Given the description of an element on the screen output the (x, y) to click on. 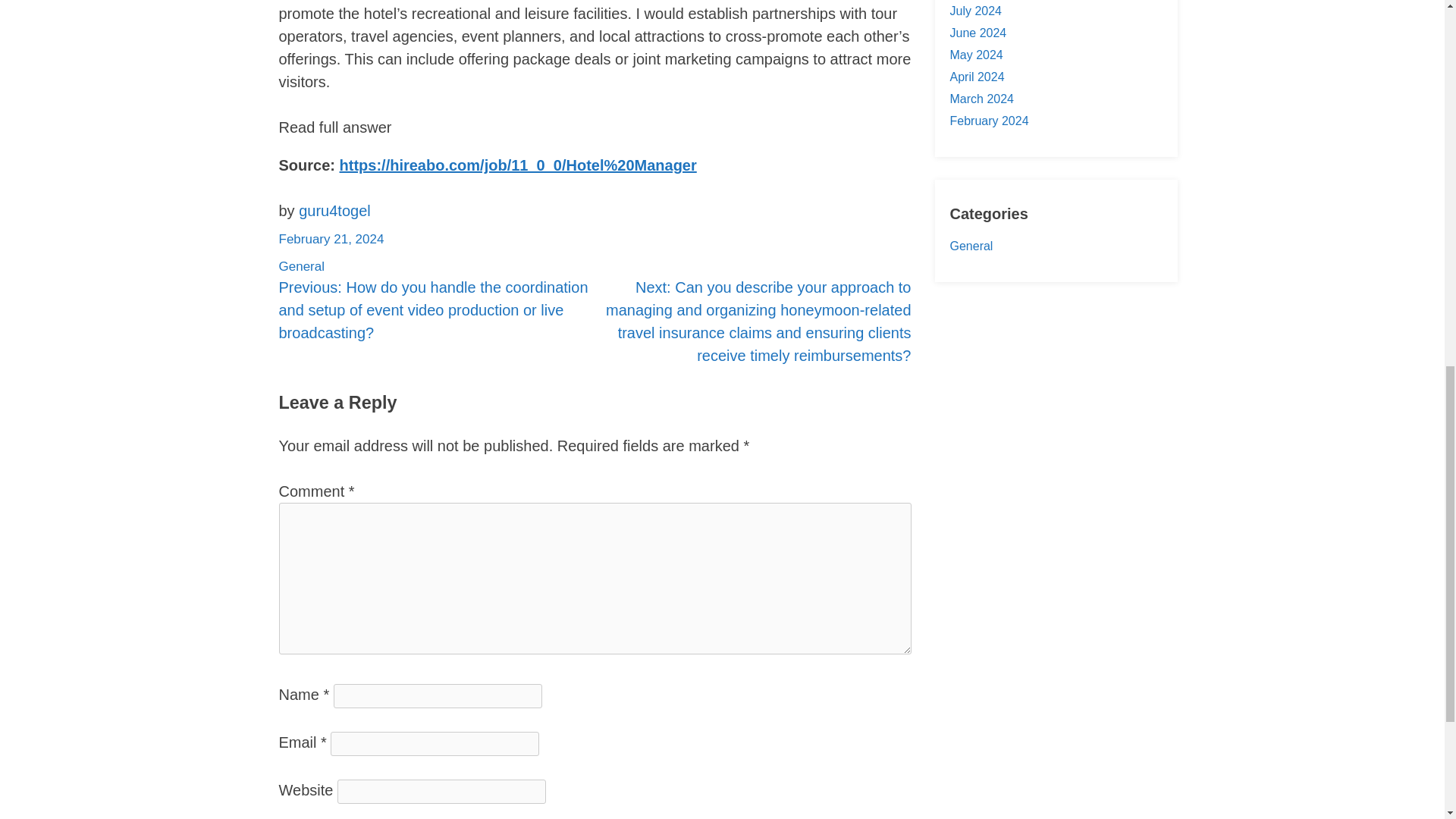
July 2024 (975, 10)
General (970, 245)
May 2024 (976, 54)
guru4togel (334, 210)
February 21, 2024 (331, 238)
General (301, 266)
March 2024 (981, 98)
February 2024 (988, 120)
April 2024 (976, 76)
June 2024 (977, 32)
